Given the description of an element on the screen output the (x, y) to click on. 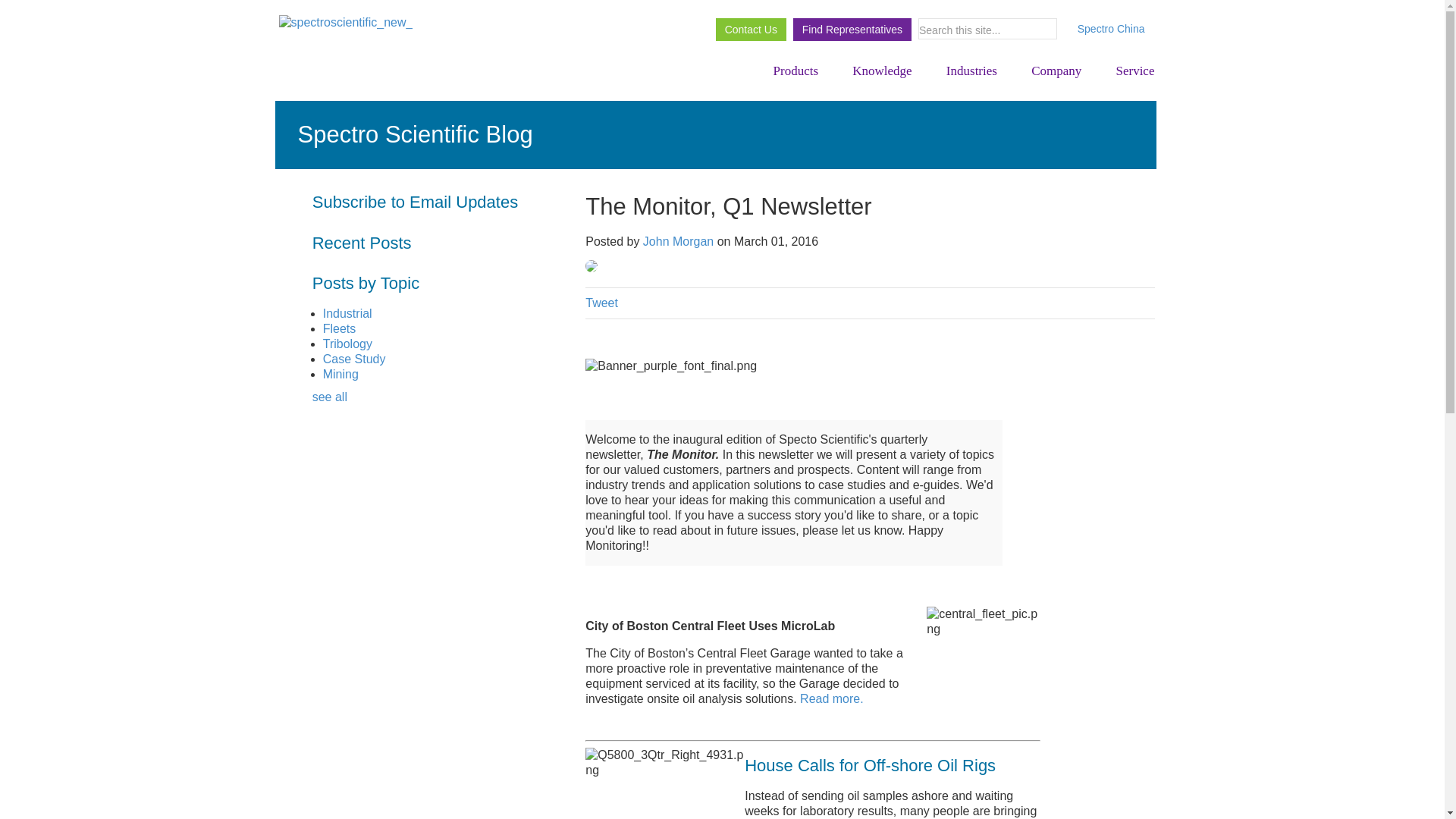
John Morgan (678, 241)
Company (1056, 71)
Tribology (347, 343)
Case Study (354, 358)
Mining (340, 373)
Knowledge (882, 71)
Service (1127, 71)
Products (794, 71)
Tweet (601, 302)
Fleets (339, 328)
